Given the description of an element on the screen output the (x, y) to click on. 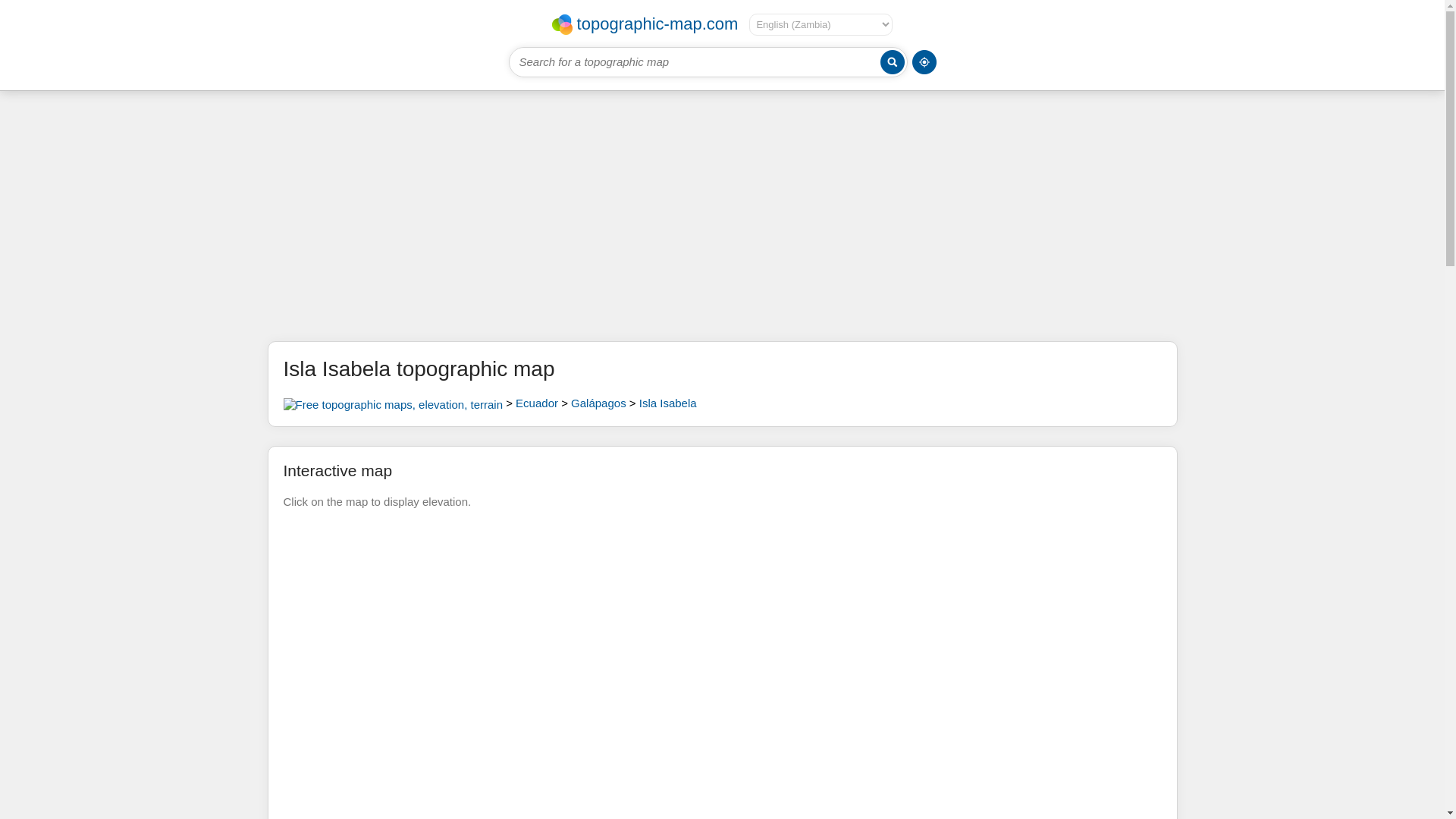
Isla Isabela (668, 402)
Geolocate (923, 61)
topographic-map.com (645, 24)
Free topographic maps, elevation, terrain (392, 402)
Search for a topographic map (707, 61)
Ecuador (536, 402)
Free topographic maps, elevation, terrain (645, 24)
